Given the description of an element on the screen output the (x, y) to click on. 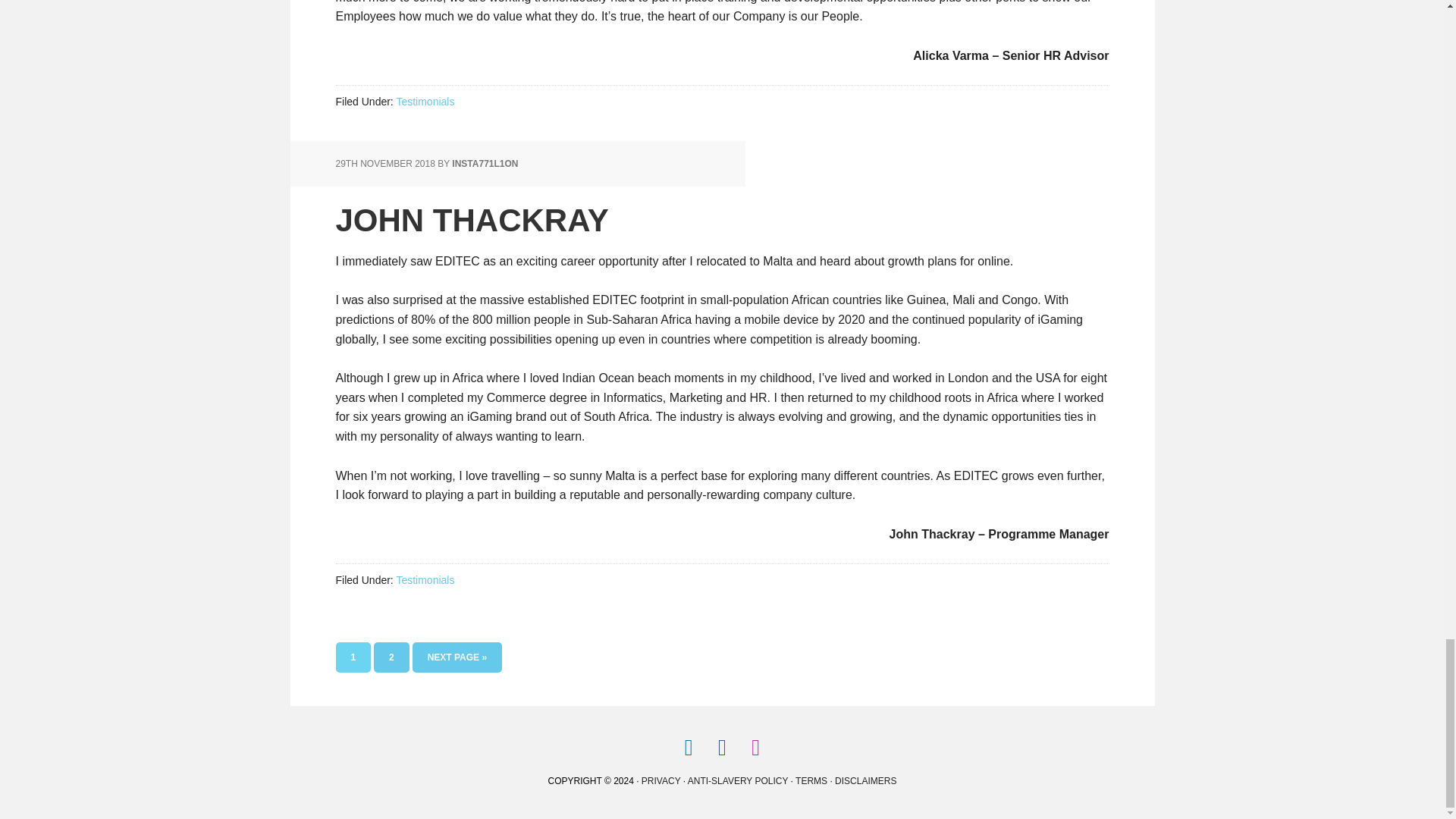
INSTA771L1ON (352, 657)
Testimonials (484, 163)
Testimonials (425, 101)
JOHN THACKRAY (425, 580)
